Given the description of an element on the screen output the (x, y) to click on. 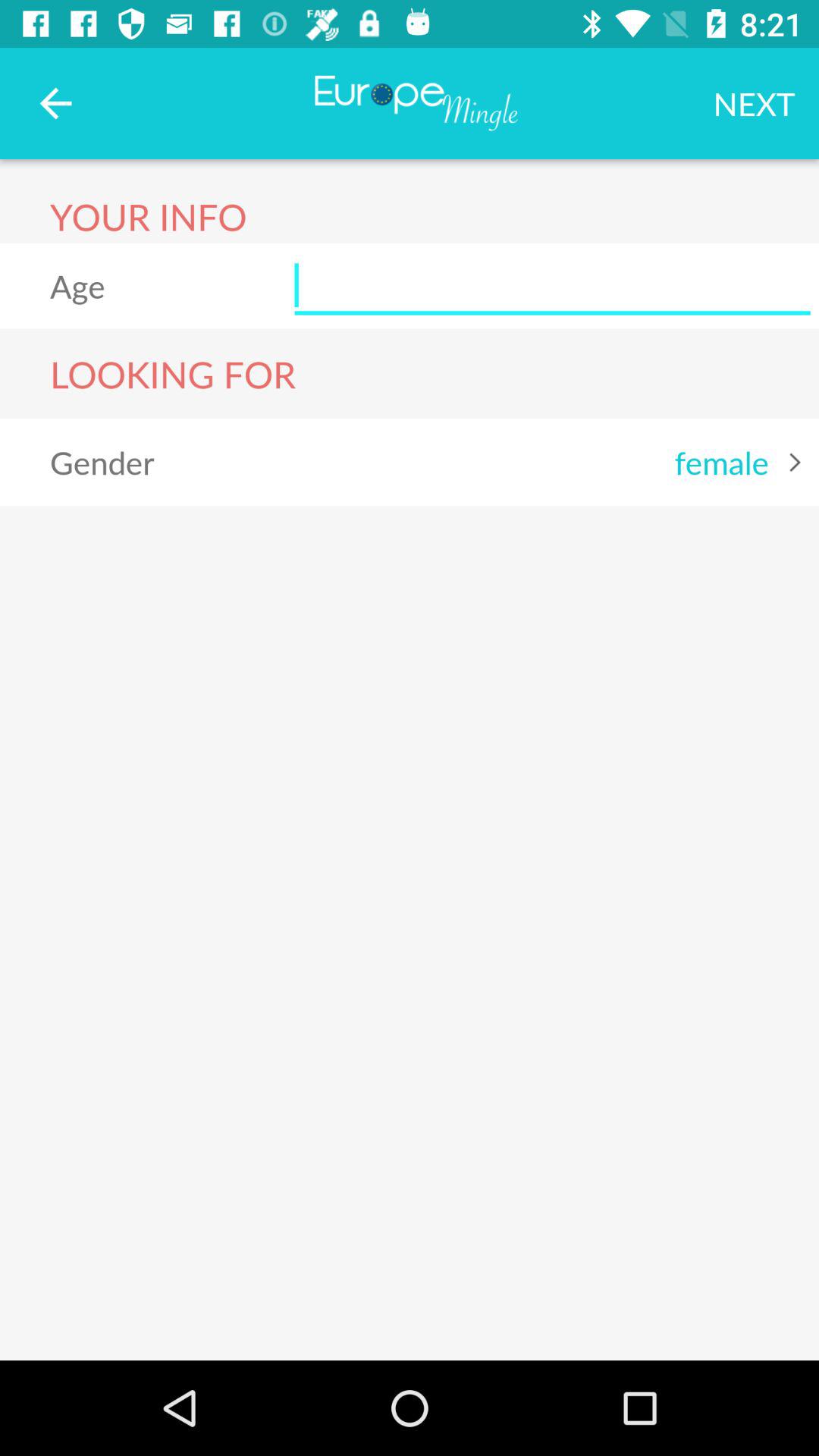
age (552, 285)
